Given the description of an element on the screen output the (x, y) to click on. 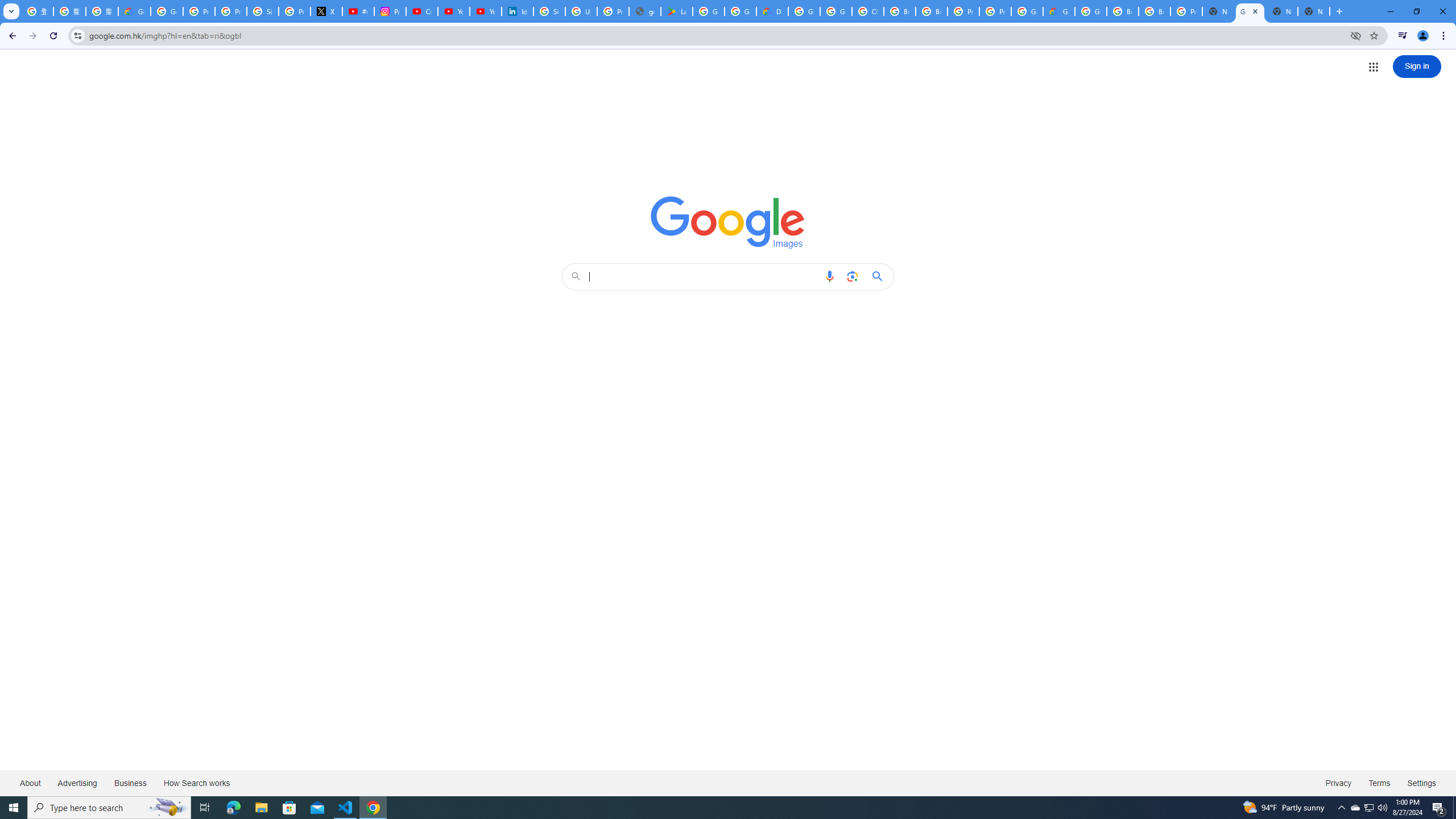
X (326, 11)
Google Images (1249, 11)
Privacy Help Center - Policies Help (230, 11)
Last Shelter: Survival - Apps on Google Play (676, 11)
